Given the description of an element on the screen output the (x, y) to click on. 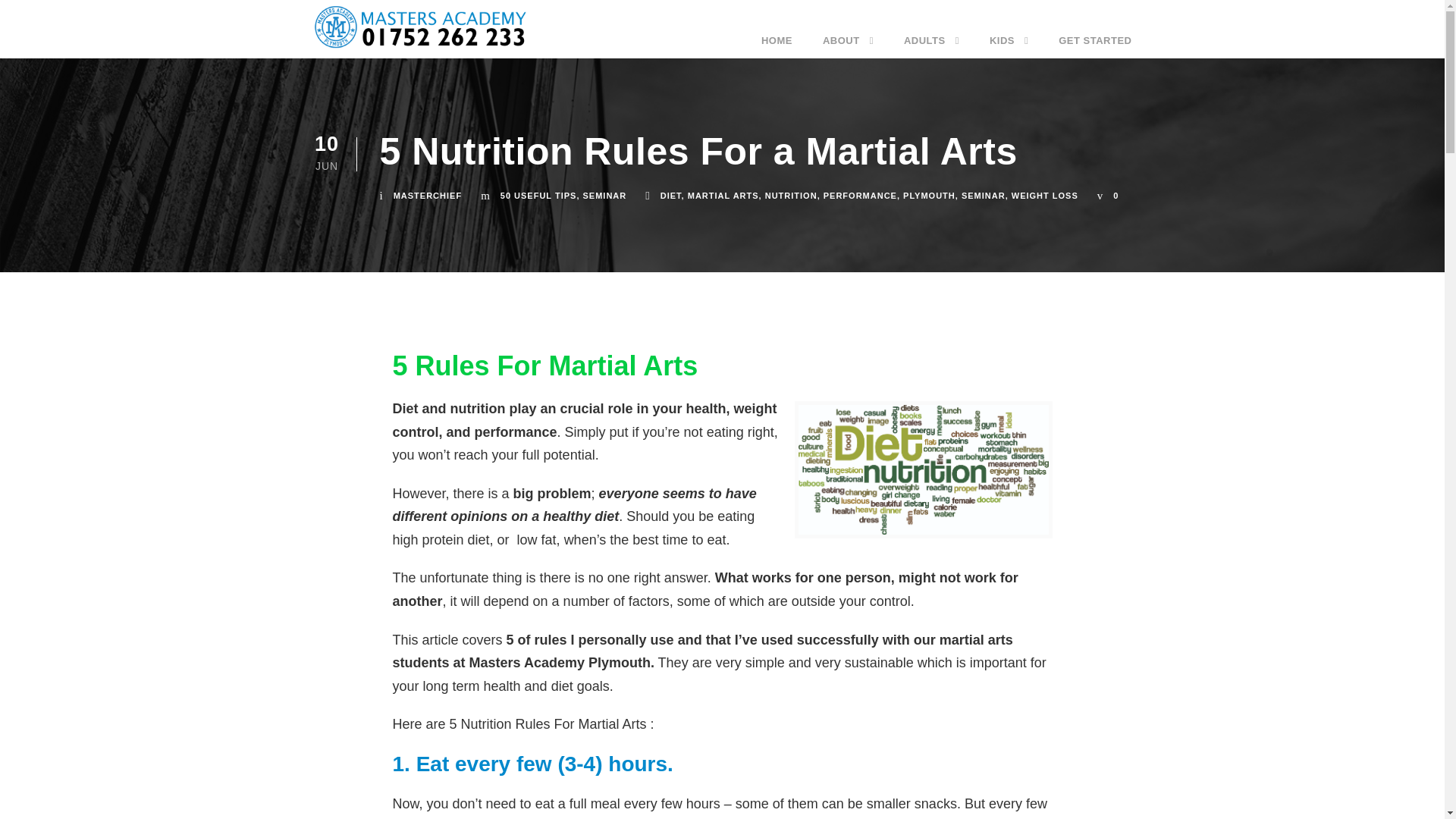
Martial-Arts-Plymouth (445, 28)
KIDS (1008, 42)
ABOUT (847, 42)
ADULTS (931, 42)
Posts by masterchief (427, 194)
HOME (776, 42)
